Given the description of an element on the screen output the (x, y) to click on. 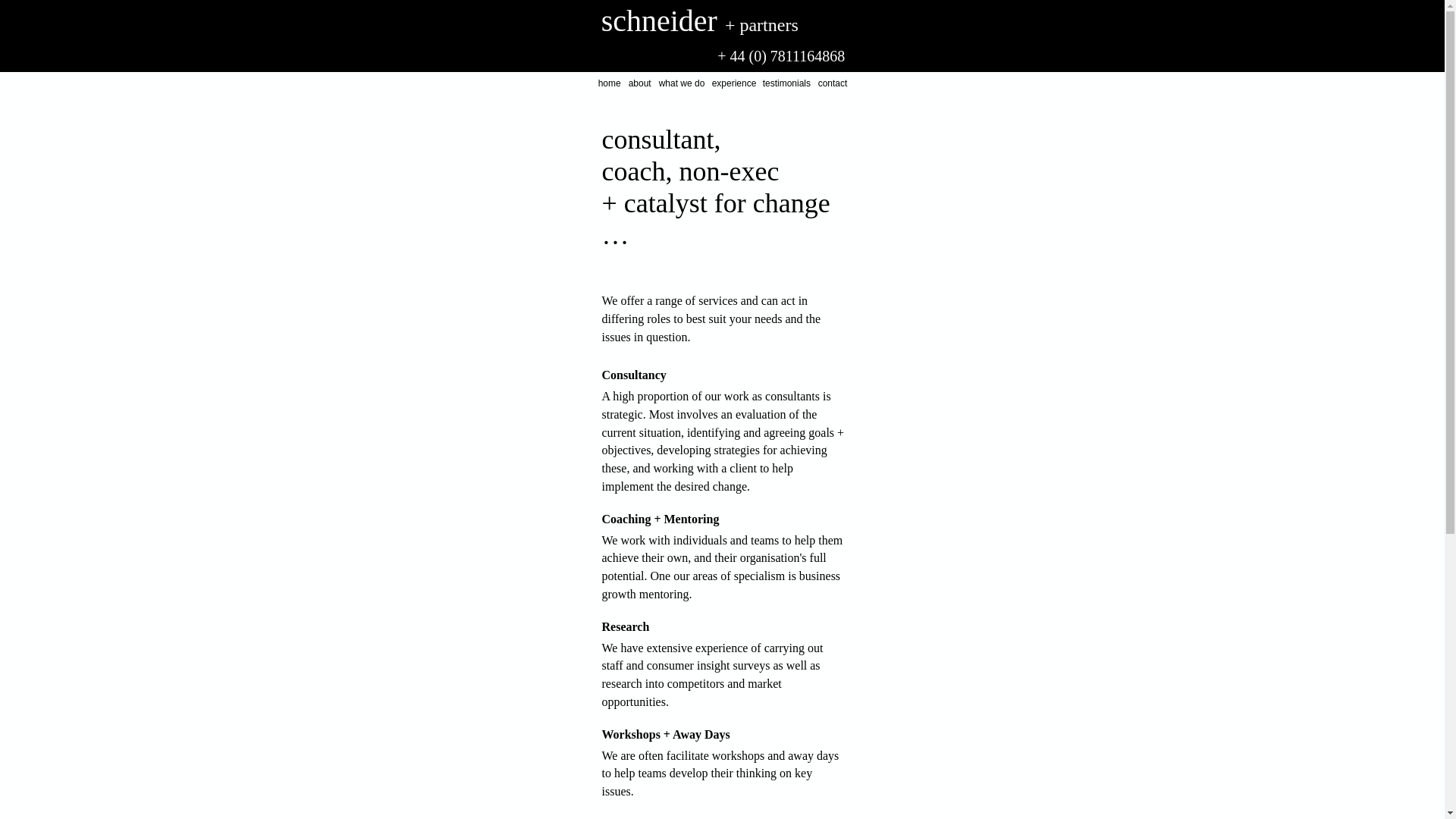
what we do (681, 82)
testimonials (786, 82)
experience (734, 82)
about (639, 82)
contact (832, 82)
home (609, 82)
